Given the description of an element on the screen output the (x, y) to click on. 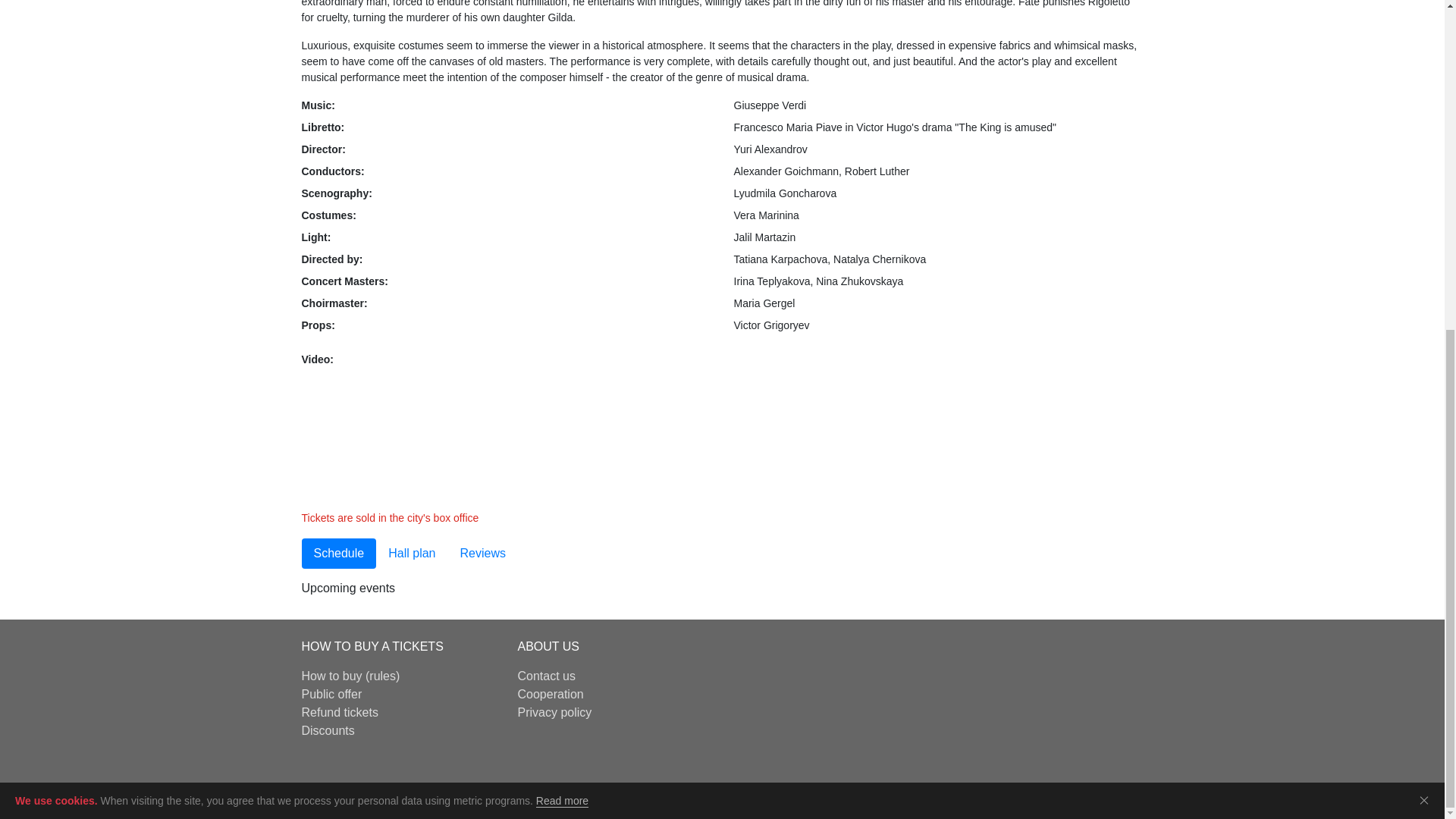
Discounts (328, 730)
Contact us (545, 675)
Read more (561, 254)
Hall plan (410, 553)
Reviews (481, 553)
Public offer (331, 694)
Schedule (339, 553)
Privacy policy (553, 712)
Refund tickets (339, 712)
Cooperation (549, 694)
